Given the description of an element on the screen output the (x, y) to click on. 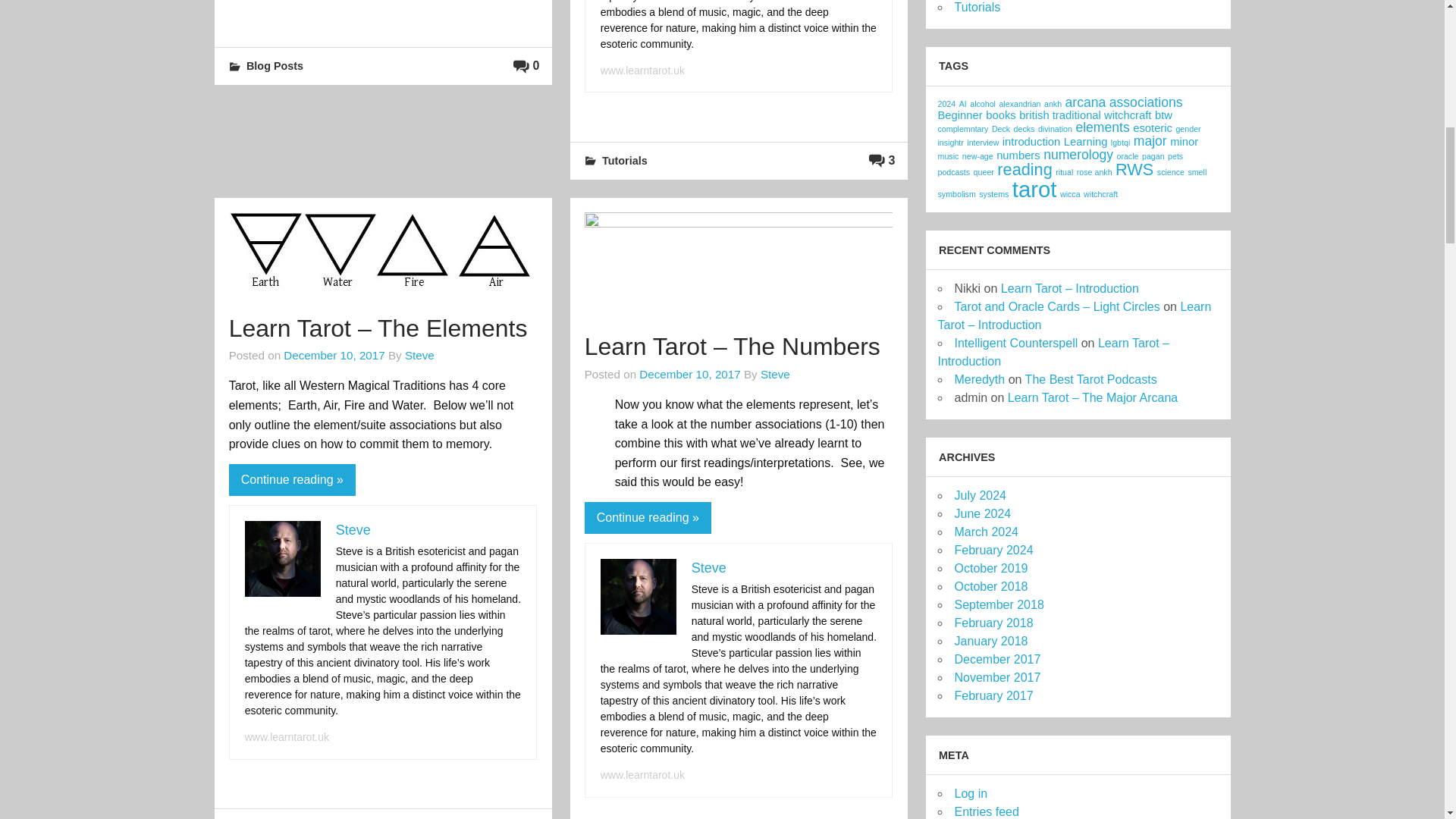
0 (525, 65)
2:45 pm (689, 373)
View all posts by Steve (775, 373)
Steve (418, 354)
3 (882, 160)
3:00 pm (333, 354)
Tutorials (624, 160)
Blog Posts (274, 65)
Steve (353, 529)
December 10, 2017 (689, 373)
